Given the description of an element on the screen output the (x, y) to click on. 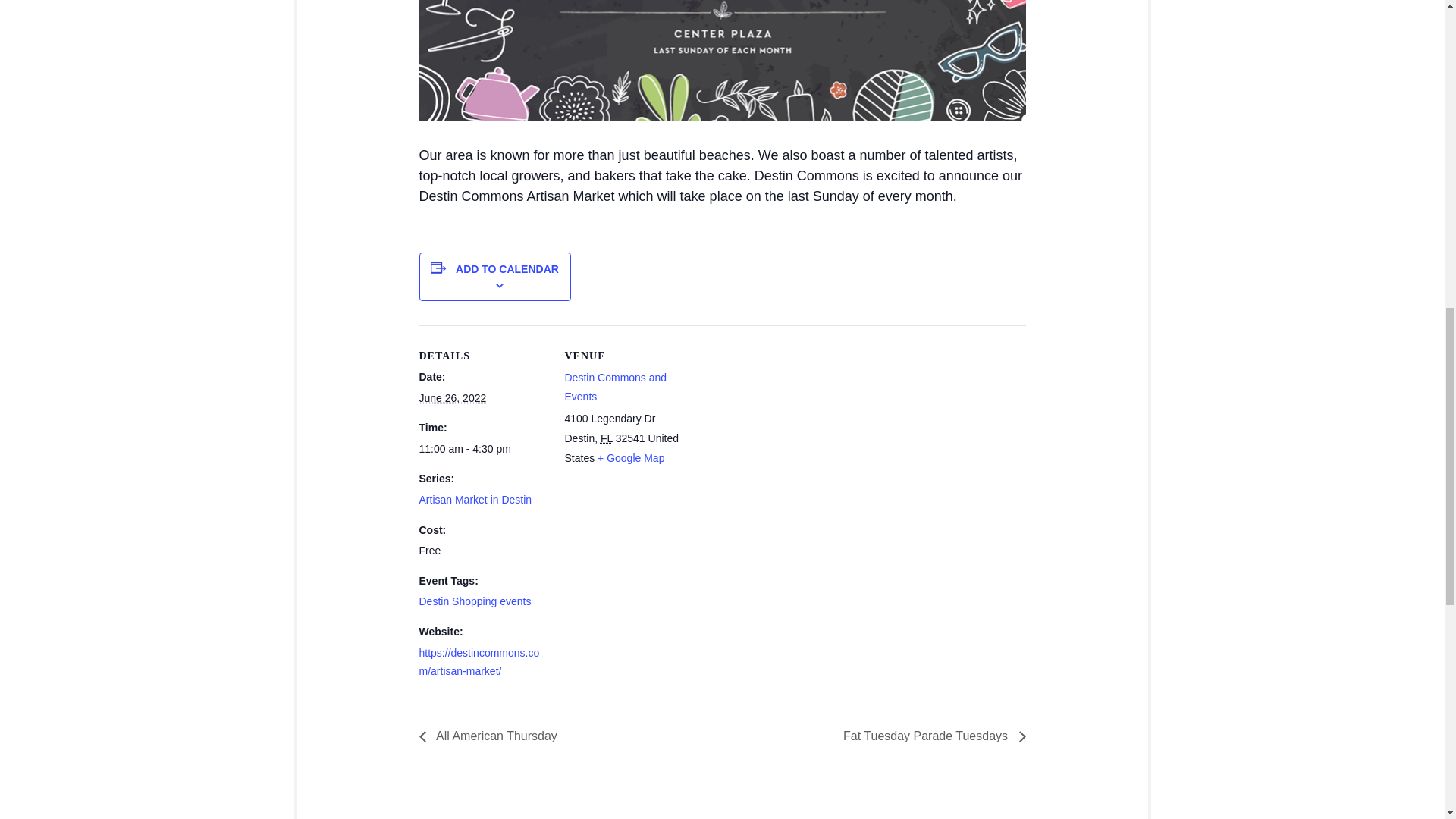
Artisan Market in Destin (475, 499)
2022-06-26 (482, 448)
Click to view a Google Map (629, 458)
2022-06-26 (452, 398)
ADD TO CALENDAR (507, 268)
Florida (605, 438)
